Given the description of an element on the screen output the (x, y) to click on. 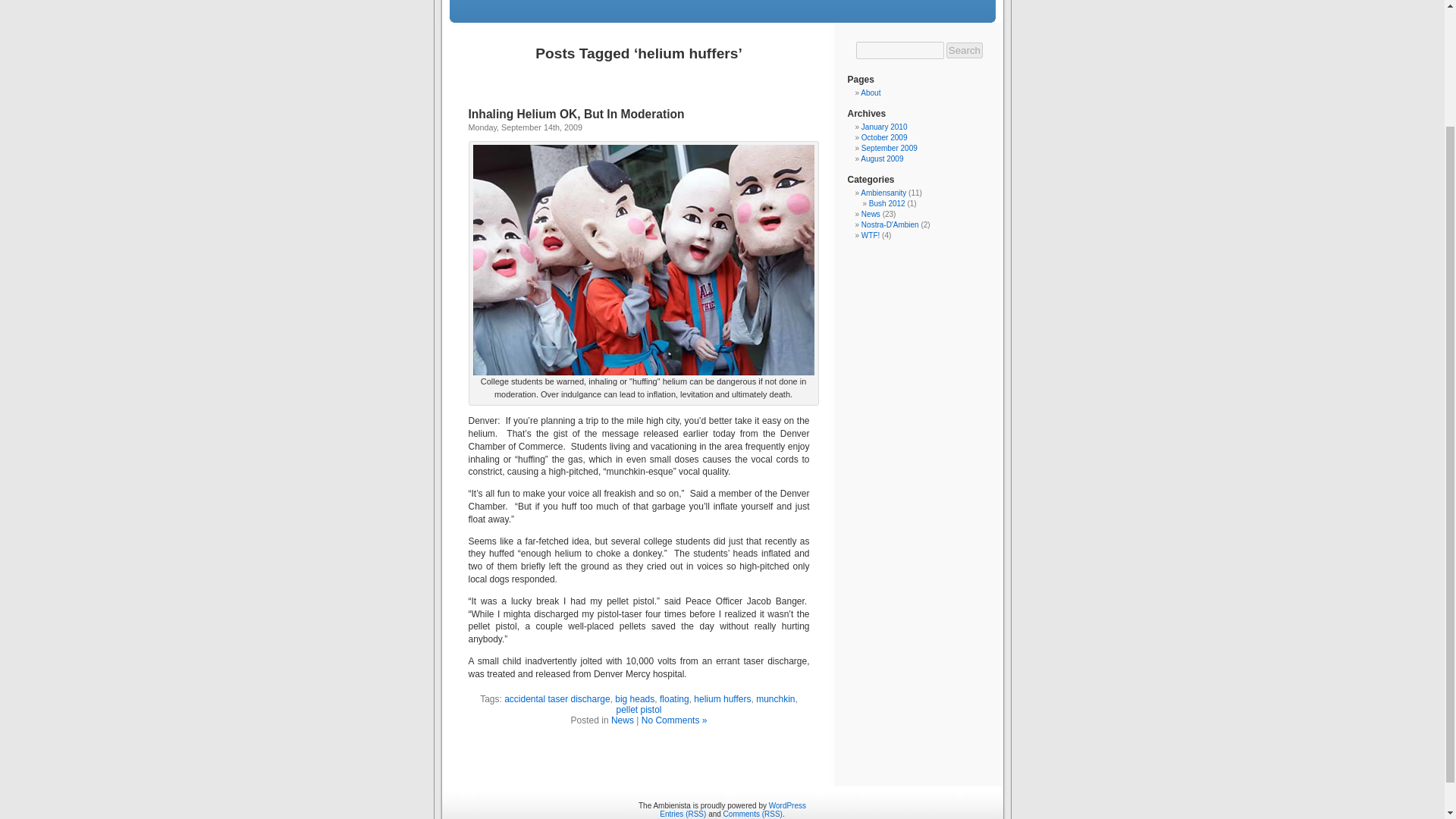
Ambiensanity (882, 193)
Inhaling Helium OK, But In Moderation (576, 113)
News (622, 719)
Bush 2012 (887, 203)
helium huffers (722, 698)
Nostra-D'Ambien (889, 224)
September 2009 (889, 148)
floating (673, 698)
big heads (633, 698)
huff (643, 259)
About (870, 92)
News (870, 213)
January 2010 (884, 126)
Search (964, 50)
August 2009 (881, 158)
